Given the description of an element on the screen output the (x, y) to click on. 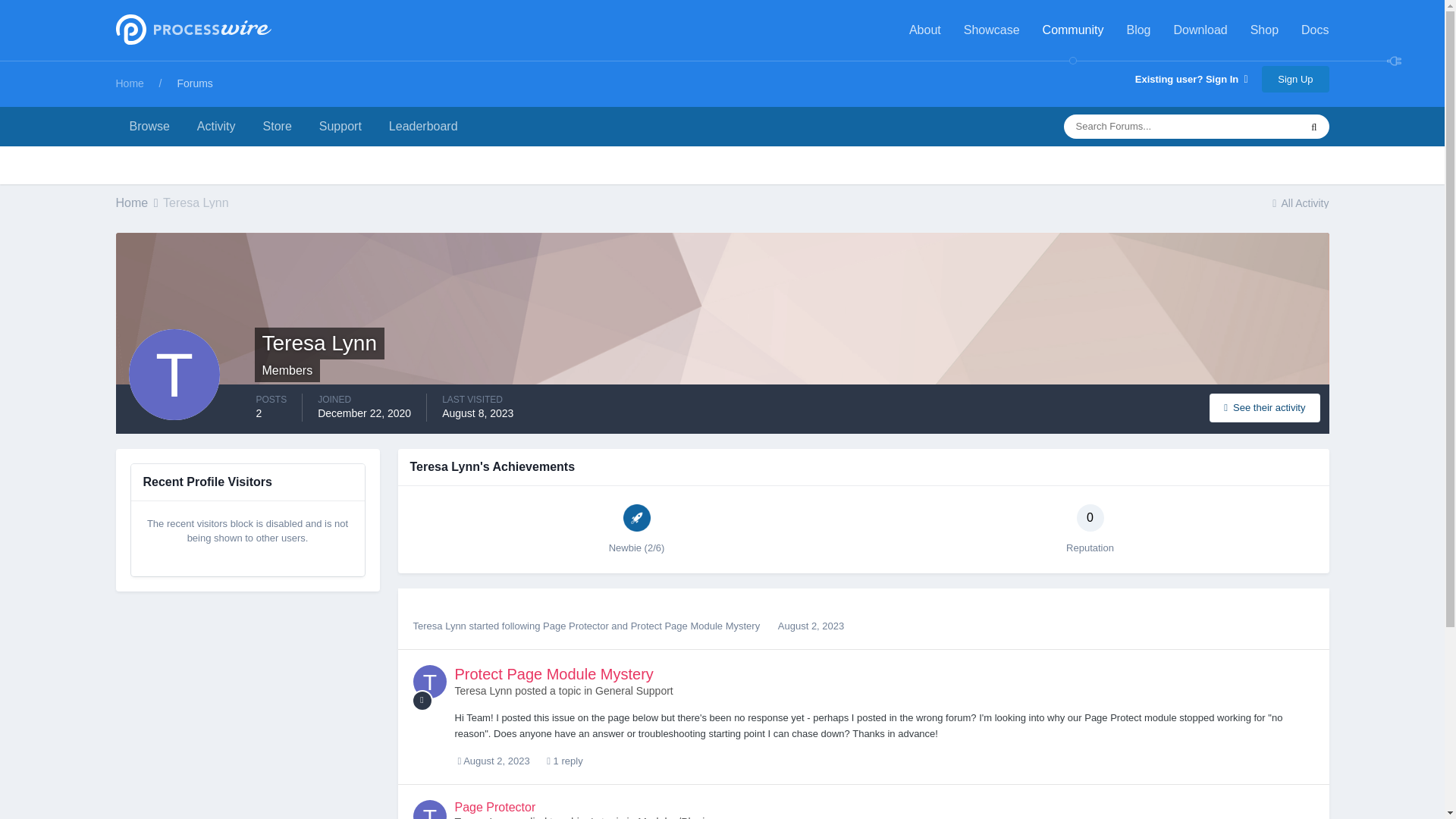
ProcessWire (190, 30)
Home (137, 201)
Neutral (1090, 516)
Topic (421, 700)
Go to Teresa Lynn's profile (428, 809)
Showcase (991, 30)
Community (1072, 30)
Go to Teresa Lynn's profile (428, 681)
Go to Teresa Lynn's profile (483, 690)
Go to Teresa Lynn's profile (438, 625)
Teresa Lynn's Content (1264, 407)
